Given the description of an element on the screen output the (x, y) to click on. 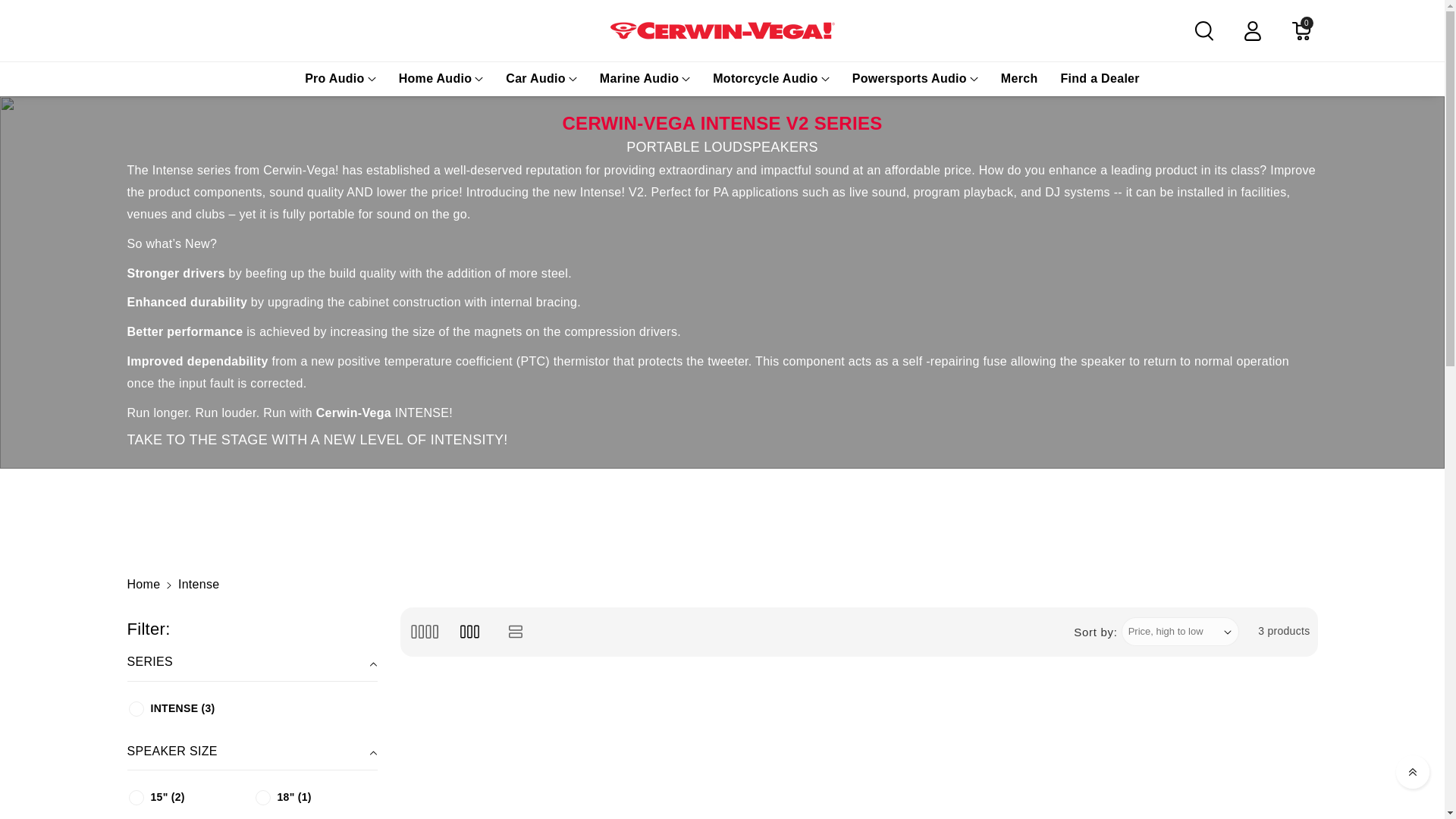
Skip To Content (45, 16)
INTENSE Series 18" V2 Subwoofer - INT-118SV2 (858, 749)
Scroll to top (1412, 771)
INTENSE (136, 708)
18" (261, 797)
Home (144, 584)
15" (136, 797)
